Given the description of an element on the screen output the (x, y) to click on. 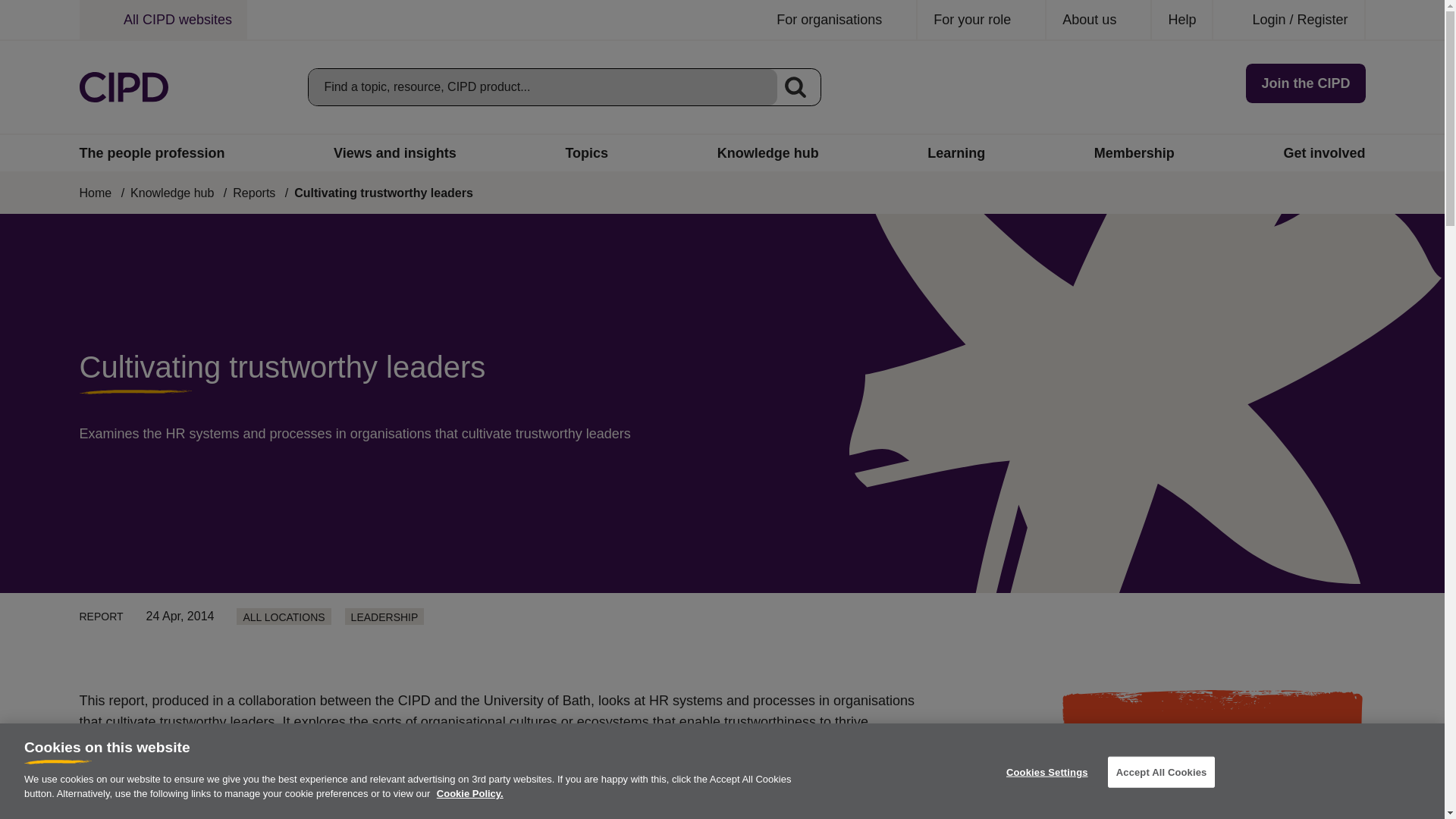
For organisations (838, 19)
For your role (981, 19)
All CIPD websites (162, 19)
Search (795, 86)
Search (795, 86)
CIPD (123, 87)
Help (1181, 19)
About us (1098, 19)
